Given the description of an element on the screen output the (x, y) to click on. 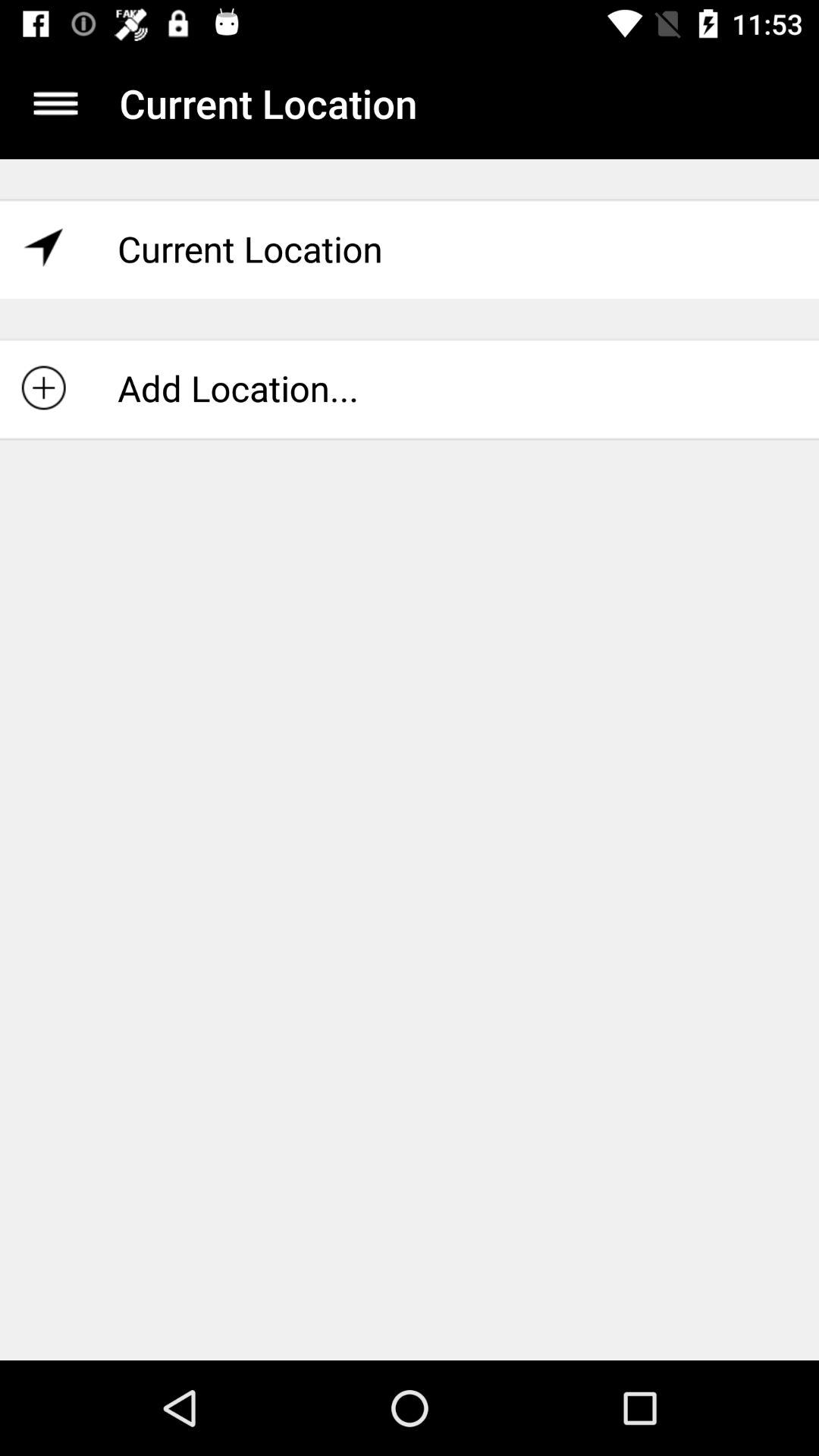
click add location... icon (409, 387)
